Given the description of an element on the screen output the (x, y) to click on. 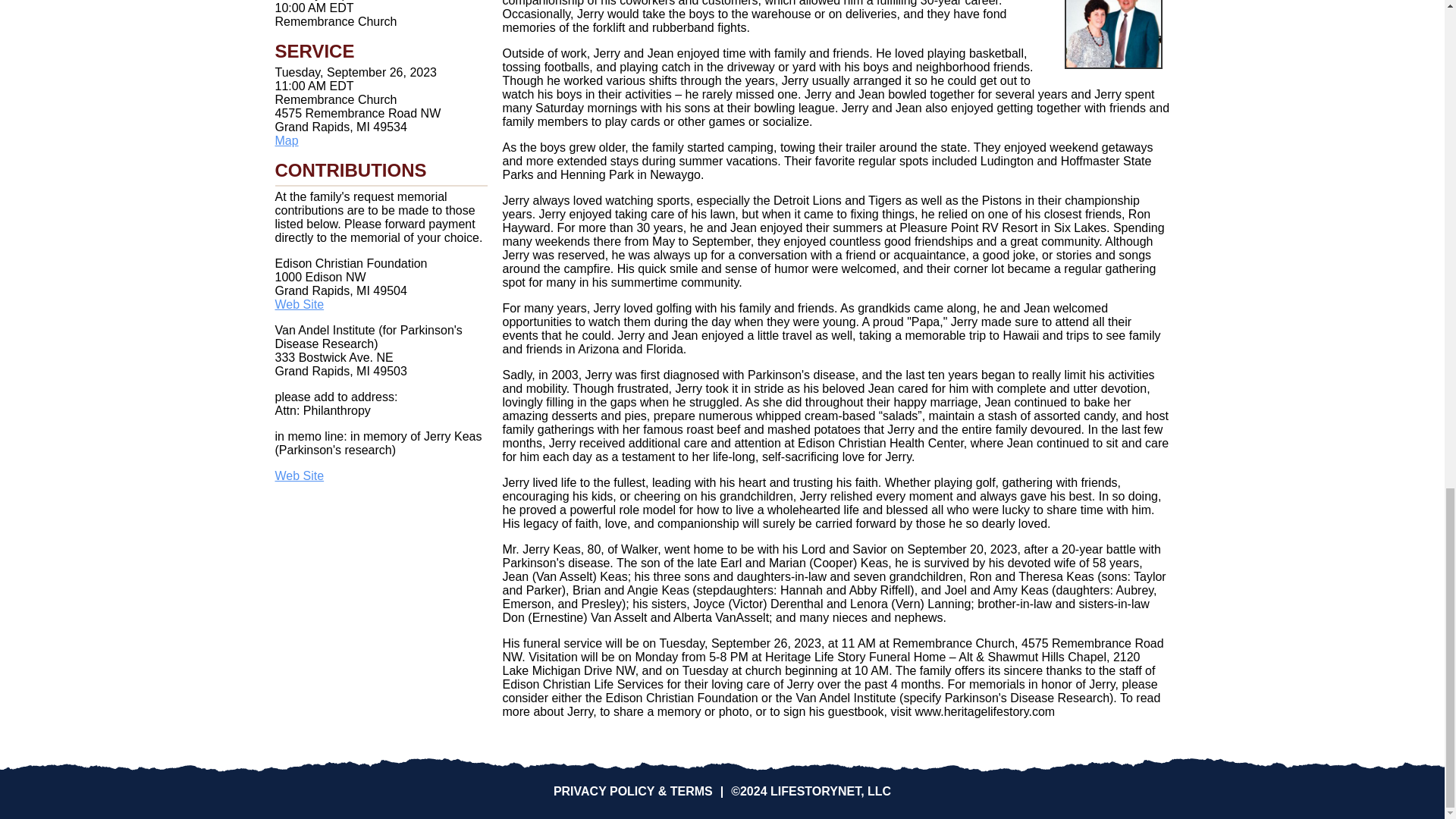
Map (286, 140)
Web Site (299, 304)
Jerry Keas picture 4 (1112, 34)
Web Site (299, 475)
